Given the description of an element on the screen output the (x, y) to click on. 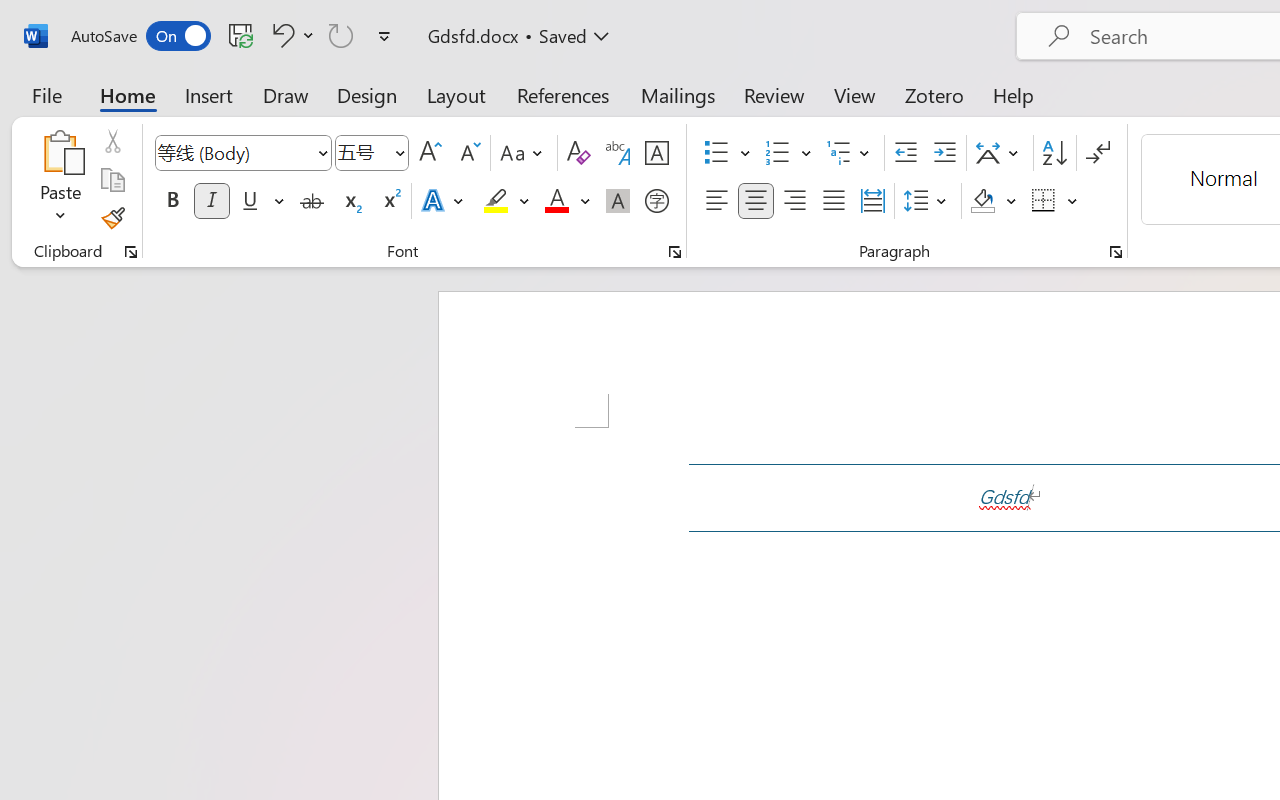
Phonetic Guide... (618, 153)
Can't Repeat (341, 35)
Text Highlight Color Yellow (495, 201)
Italic (212, 201)
Grow Font (430, 153)
Text Effects and Typography (444, 201)
Subscript (350, 201)
Shrink Font (468, 153)
Asian Layout (1000, 153)
Font Color (567, 201)
Copy (112, 179)
